Given the description of an element on the screen output the (x, y) to click on. 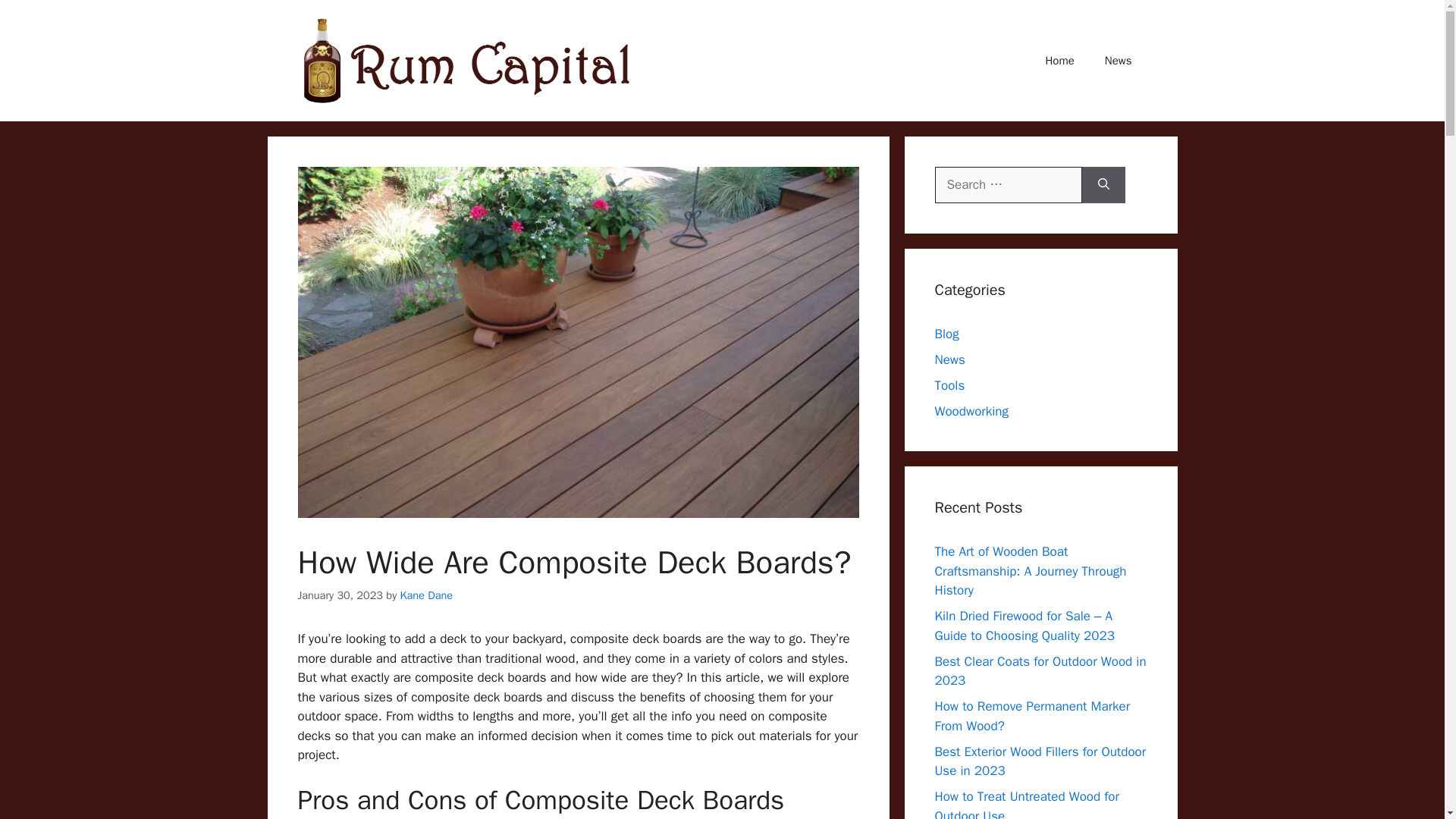
Best Exterior Wood Fillers for Outdoor Use in 2023 (1039, 760)
Blog (946, 333)
How to Treat Untreated Wood for Outdoor Use (1026, 803)
Home (1059, 60)
Tools (948, 385)
Search for: (1007, 185)
View all posts by Kane Dane (426, 594)
Kane Dane (426, 594)
Best Clear Coats for Outdoor Wood in 2023 (1039, 671)
How to Remove Permanent Marker From Wood? (1031, 715)
